Given the description of an element on the screen output the (x, y) to click on. 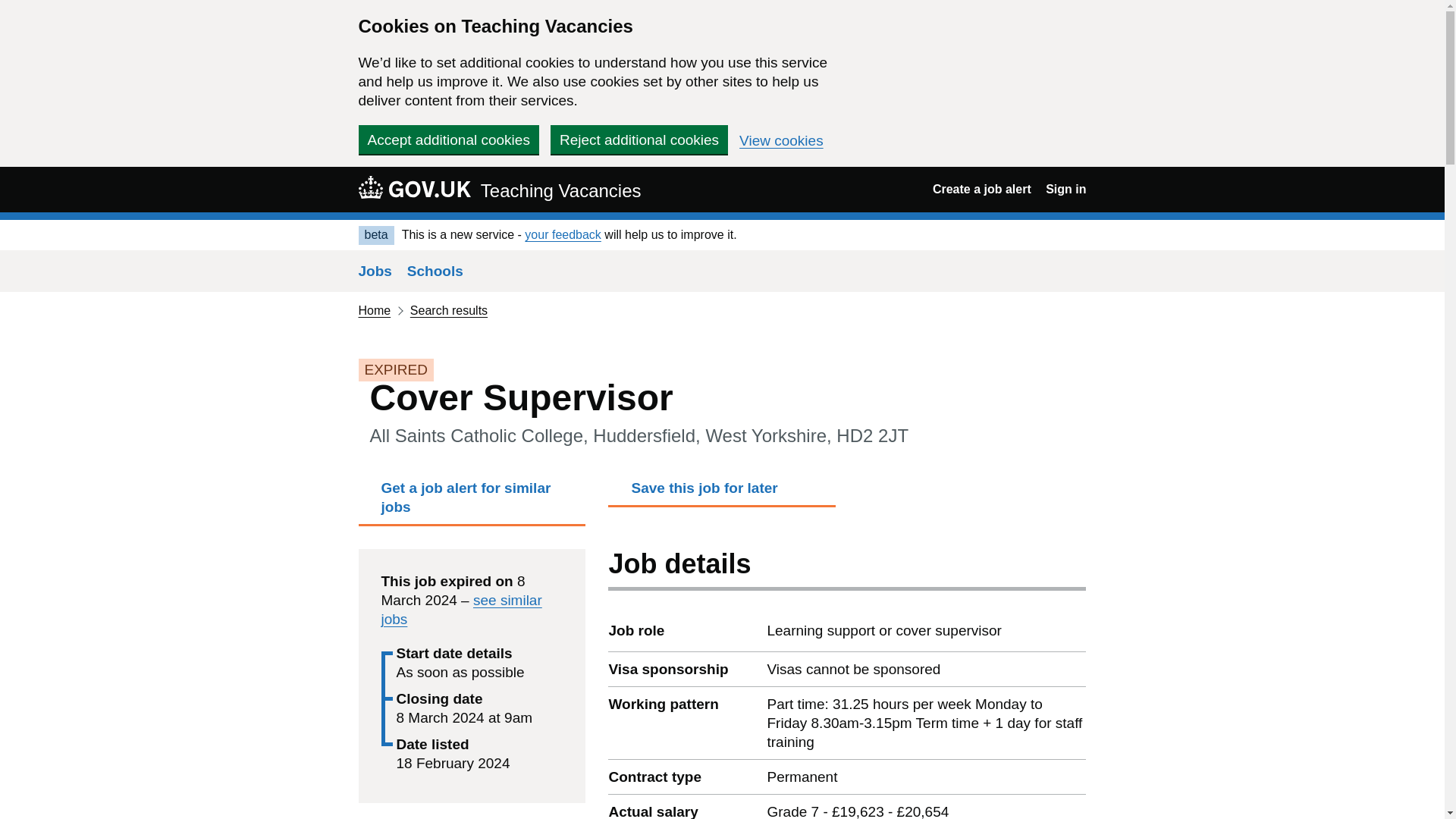
Home (374, 309)
Sign in (1065, 188)
Accept additional cookies (448, 139)
Get a job alert for similar jobs (471, 501)
Save this job for later (721, 491)
Reject additional cookies (639, 139)
View cookies (781, 140)
your feedback (562, 234)
GOV.UK (414, 187)
see similar jobs (460, 609)
Search results (448, 309)
GOV.UK Teaching Vacancies (499, 188)
Schools (435, 270)
Create a job alert (981, 188)
